Given the description of an element on the screen output the (x, y) to click on. 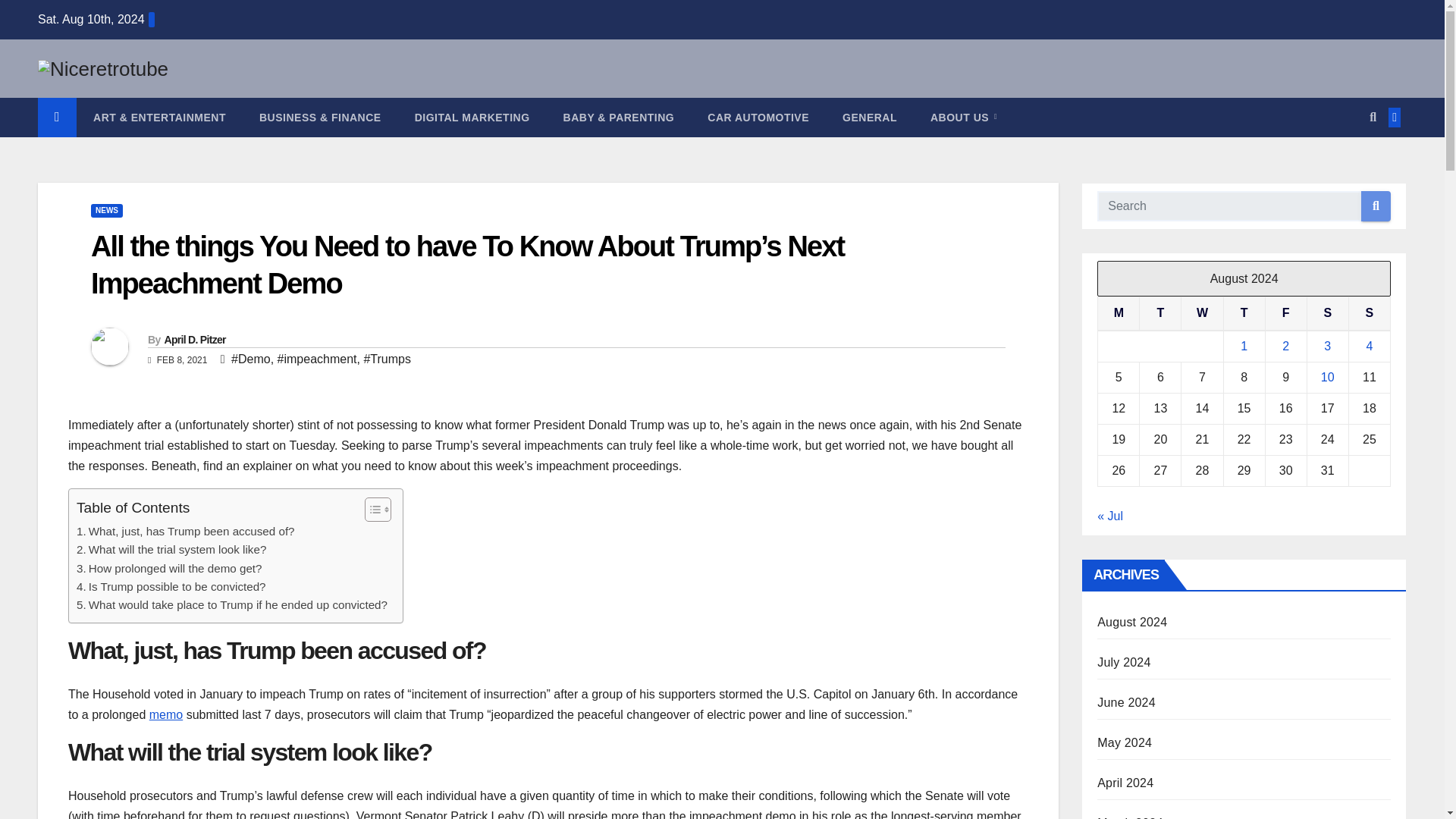
DIGITAL MARKETING (472, 117)
memo (166, 714)
How prolonged will the demo get? (169, 568)
NEWS (106, 210)
What, just, has Trump been accused of? (186, 531)
What will the trial system look like? (171, 549)
Digital Marketing (472, 117)
CAR AUTOMOTIVE (757, 117)
General (869, 117)
GENERAL (869, 117)
